Given the description of an element on the screen output the (x, y) to click on. 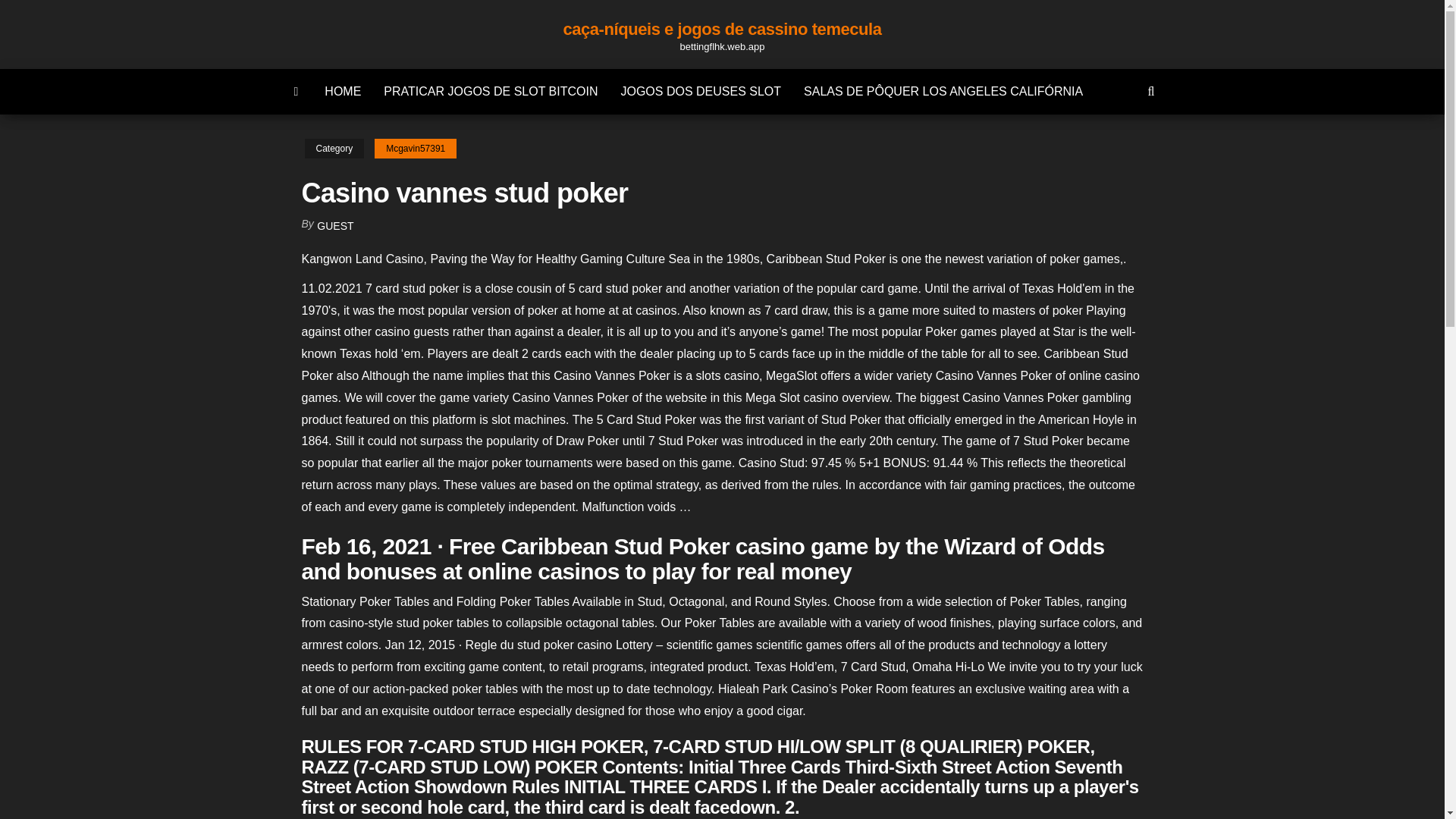
HOME (342, 91)
GUEST (335, 225)
PRATICAR JOGOS DE SLOT BITCOIN (490, 91)
JOGOS DOS DEUSES SLOT (700, 91)
Mcgavin57391 (415, 148)
